Given the description of an element on the screen output the (x, y) to click on. 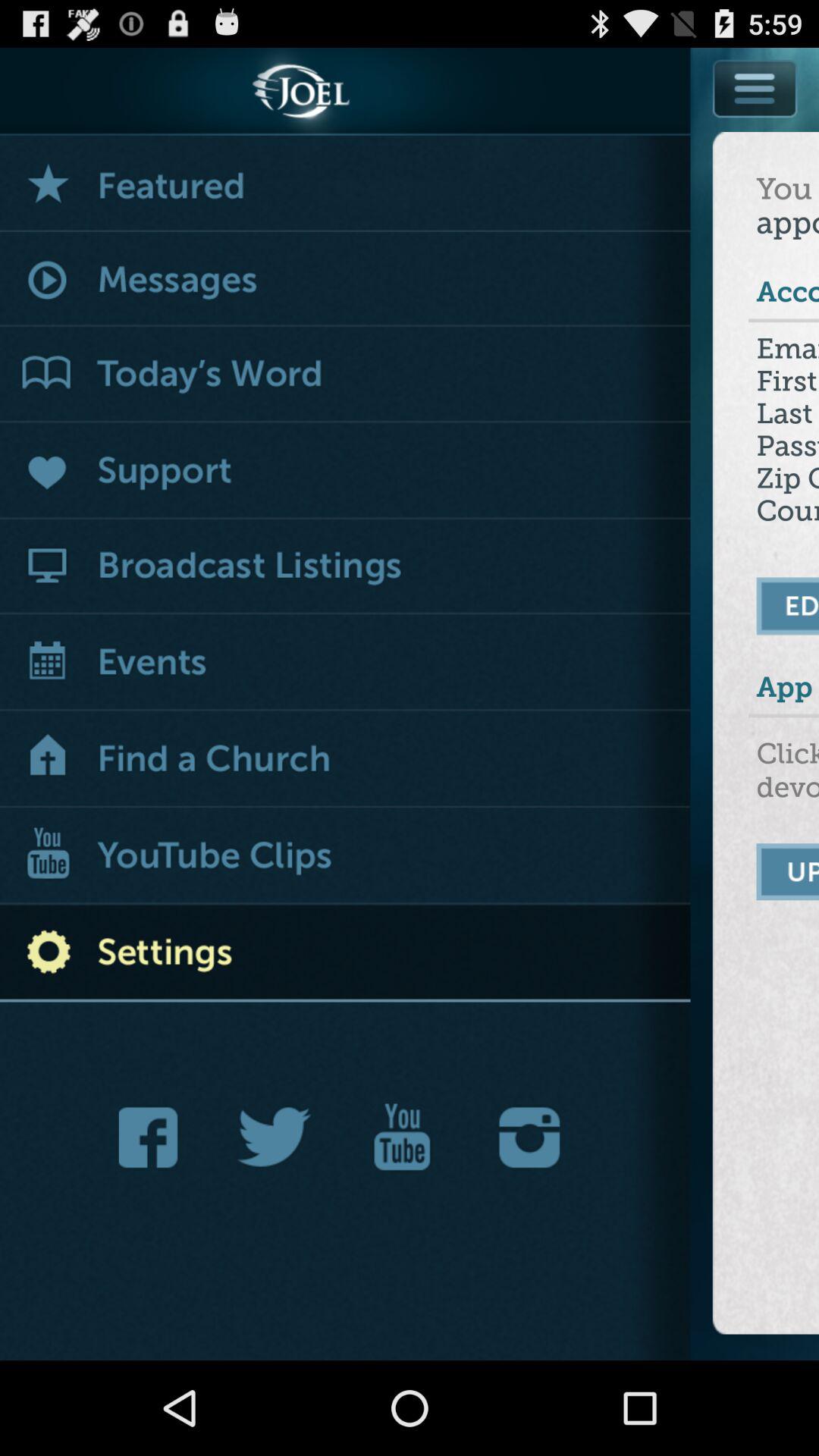
see featured posts (345, 183)
